Given the description of an element on the screen output the (x, y) to click on. 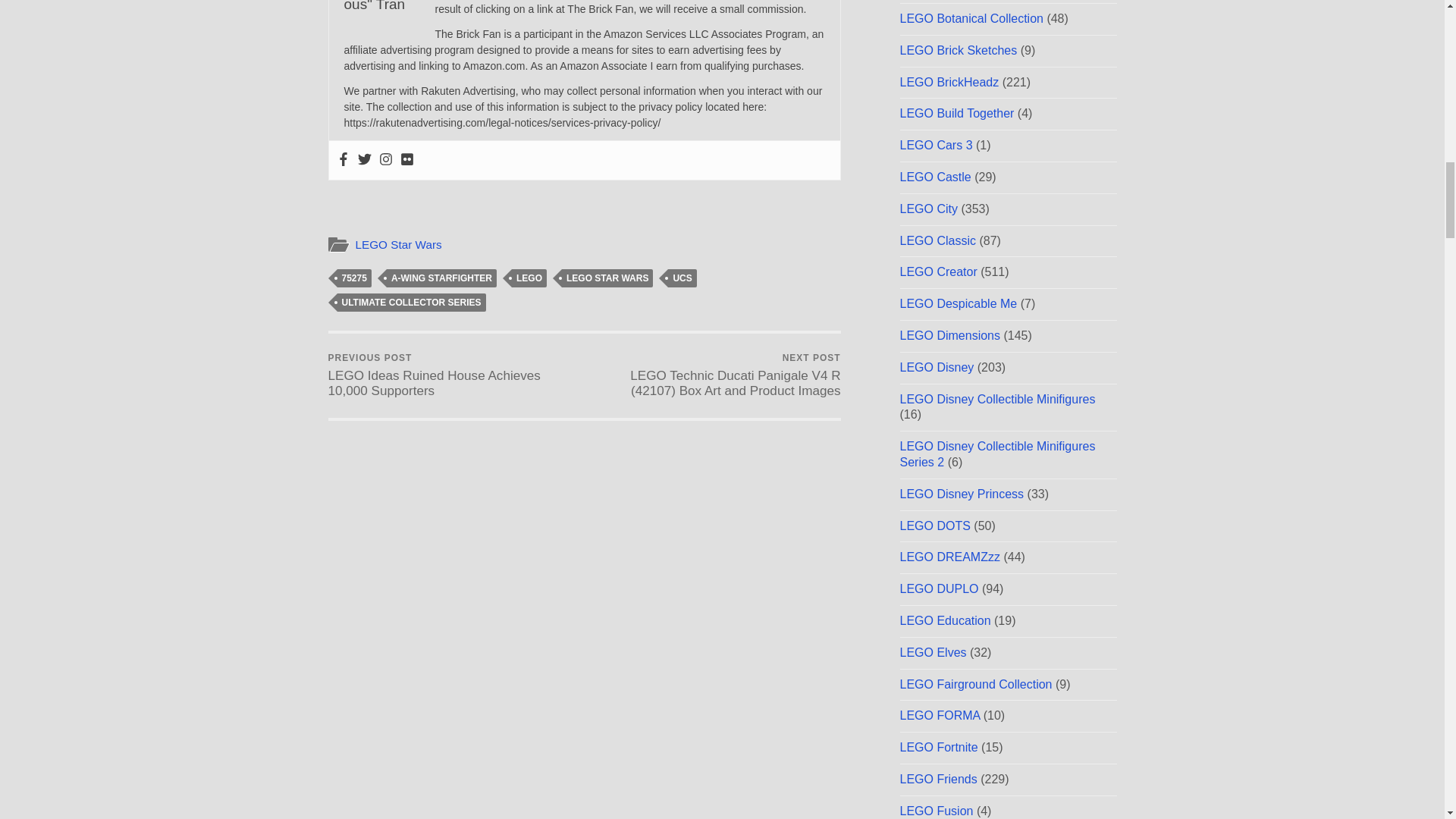
LEGO (529, 278)
75275 (353, 278)
A-WING STARFIGHTER (441, 278)
LEGO Star Wars (398, 244)
